Given the description of an element on the screen output the (x, y) to click on. 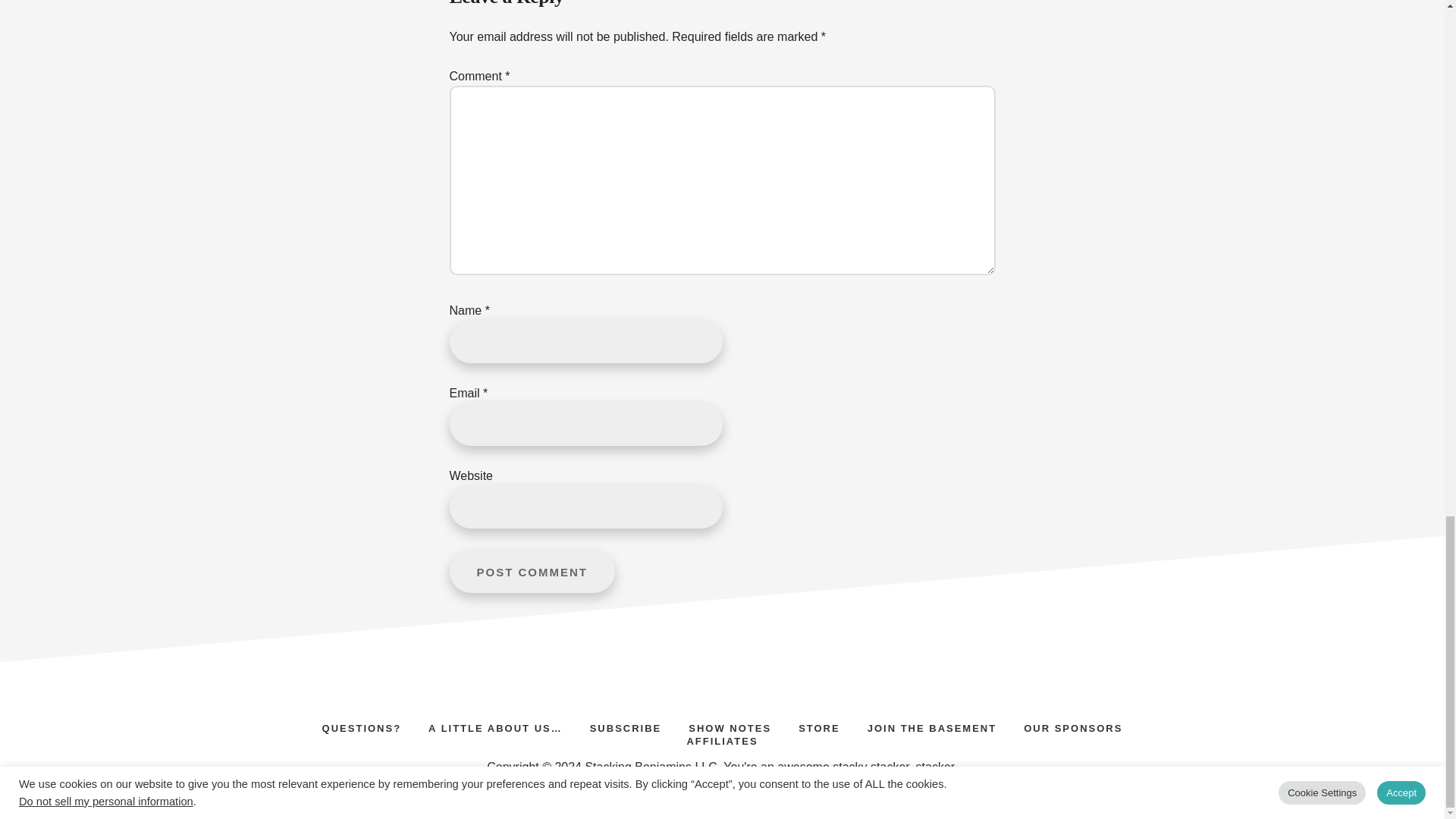
AFFILIATES (721, 739)
Post Comment (531, 570)
OUR SPONSORS (1072, 726)
JOIN THE BASEMENT (931, 726)
SUBSCRIBE (625, 726)
QUESTIONS? (361, 726)
STORE (818, 726)
Post Comment (531, 570)
SHOW NOTES (729, 726)
